Given the description of an element on the screen output the (x, y) to click on. 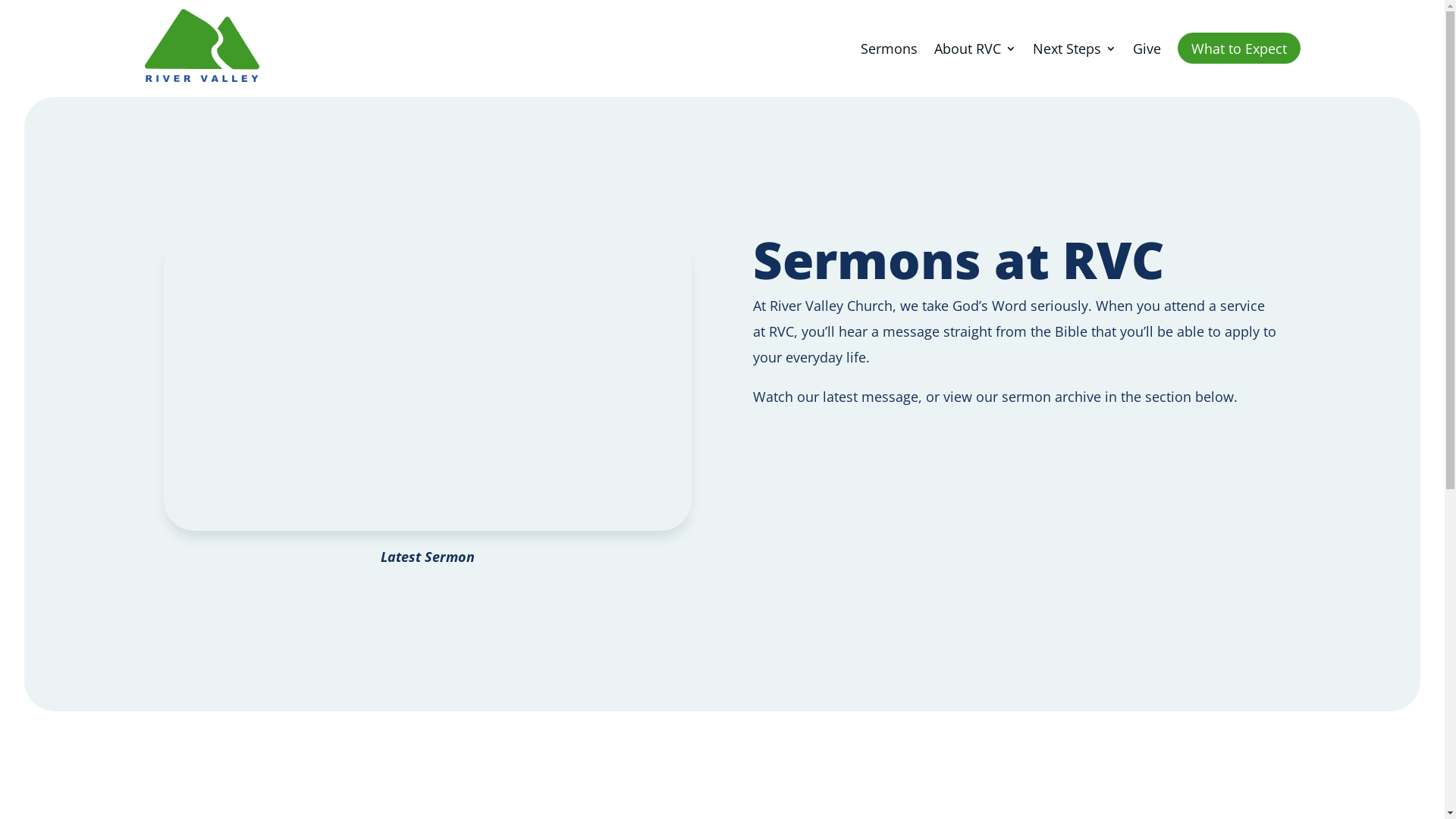
Give Element type: text (1146, 48)
About RVC Element type: text (975, 48)
Sermons Element type: text (887, 48)
Next Steps Element type: text (1074, 48)
What to Expect Element type: text (1237, 47)
